Given the description of an element on the screen output the (x, y) to click on. 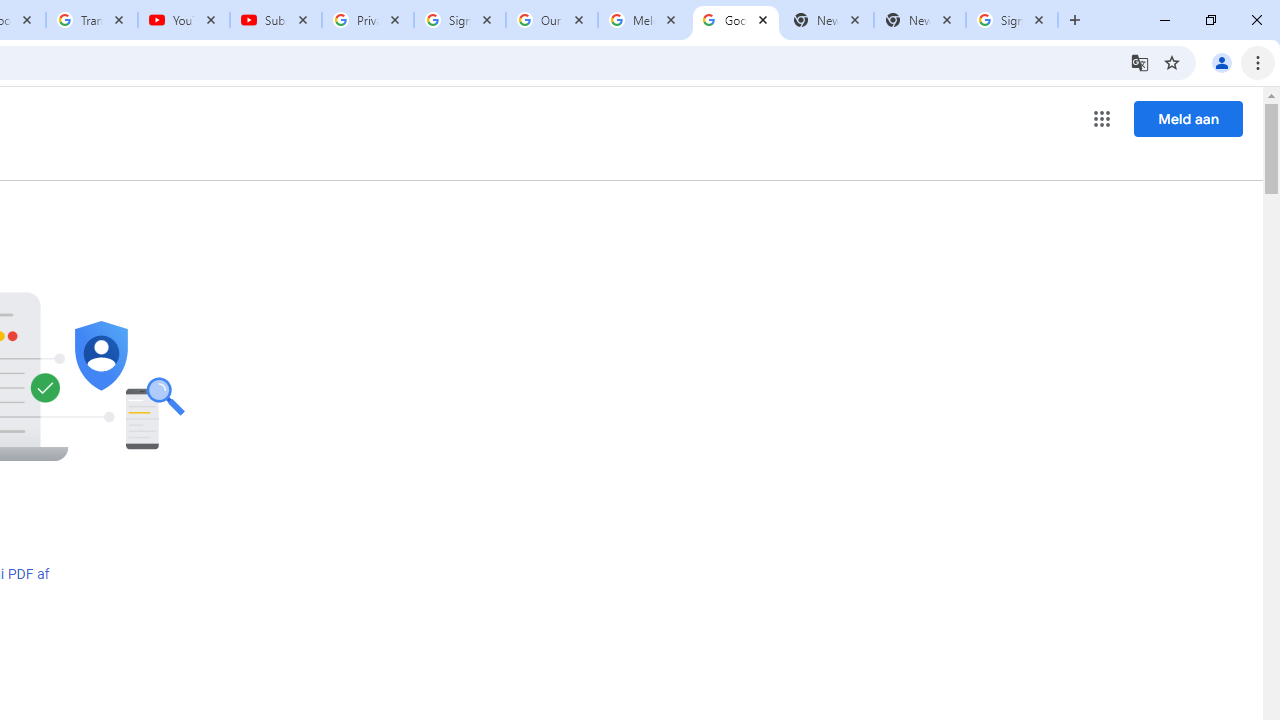
YouTube (184, 20)
New Tab (920, 20)
Subscriptions - YouTube (276, 20)
Google-programme (1101, 118)
Sign in - Google Accounts (459, 20)
Meld aan (1188, 118)
